Given the description of an element on the screen output the (x, y) to click on. 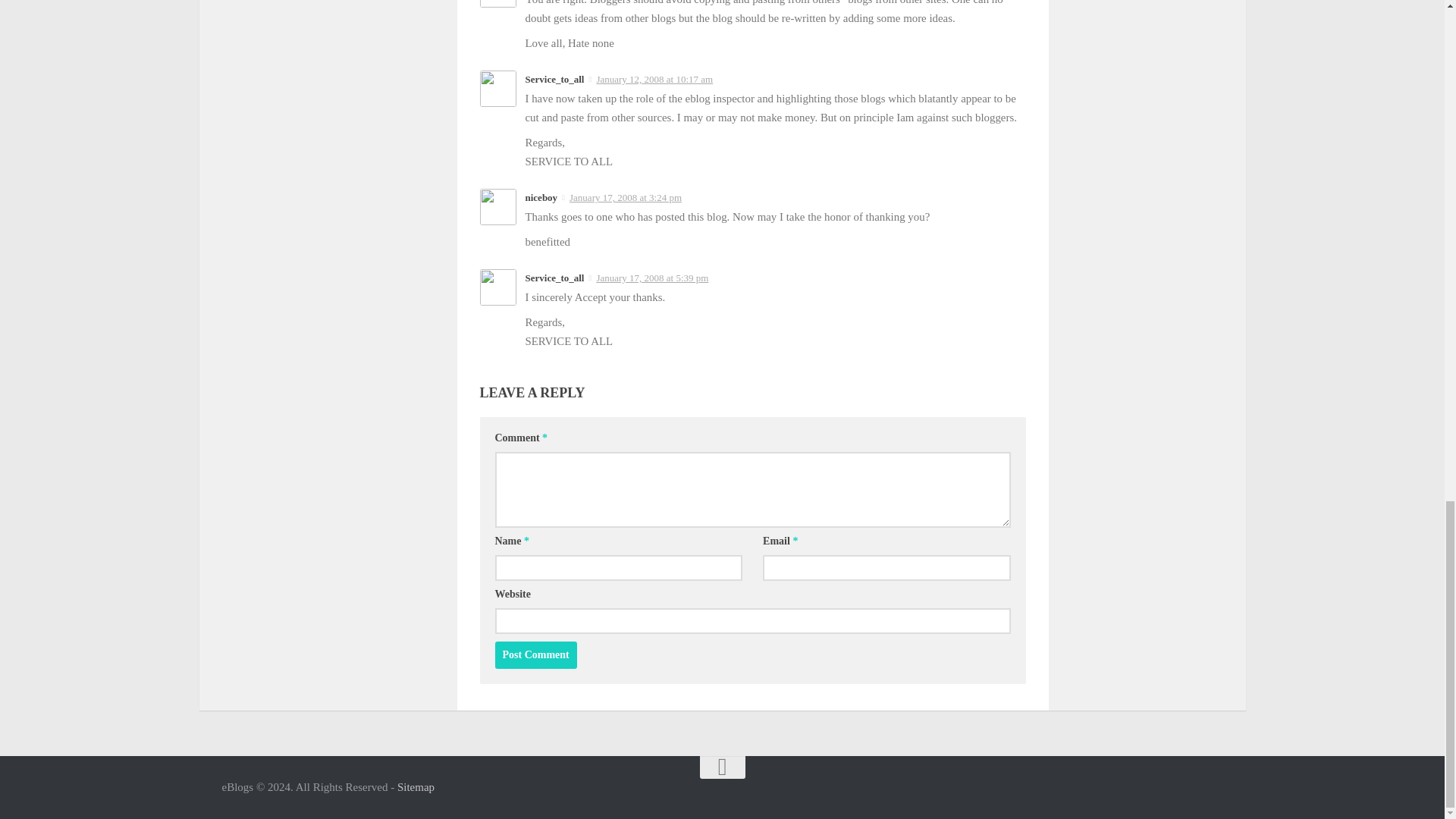
January 17, 2008 at 5:39 pm (651, 277)
Post Comment (535, 655)
January 17, 2008 at 3:24 pm (625, 197)
January 12, 2008 at 10:17 am (654, 79)
Post Comment (535, 655)
